Given the description of an element on the screen output the (x, y) to click on. 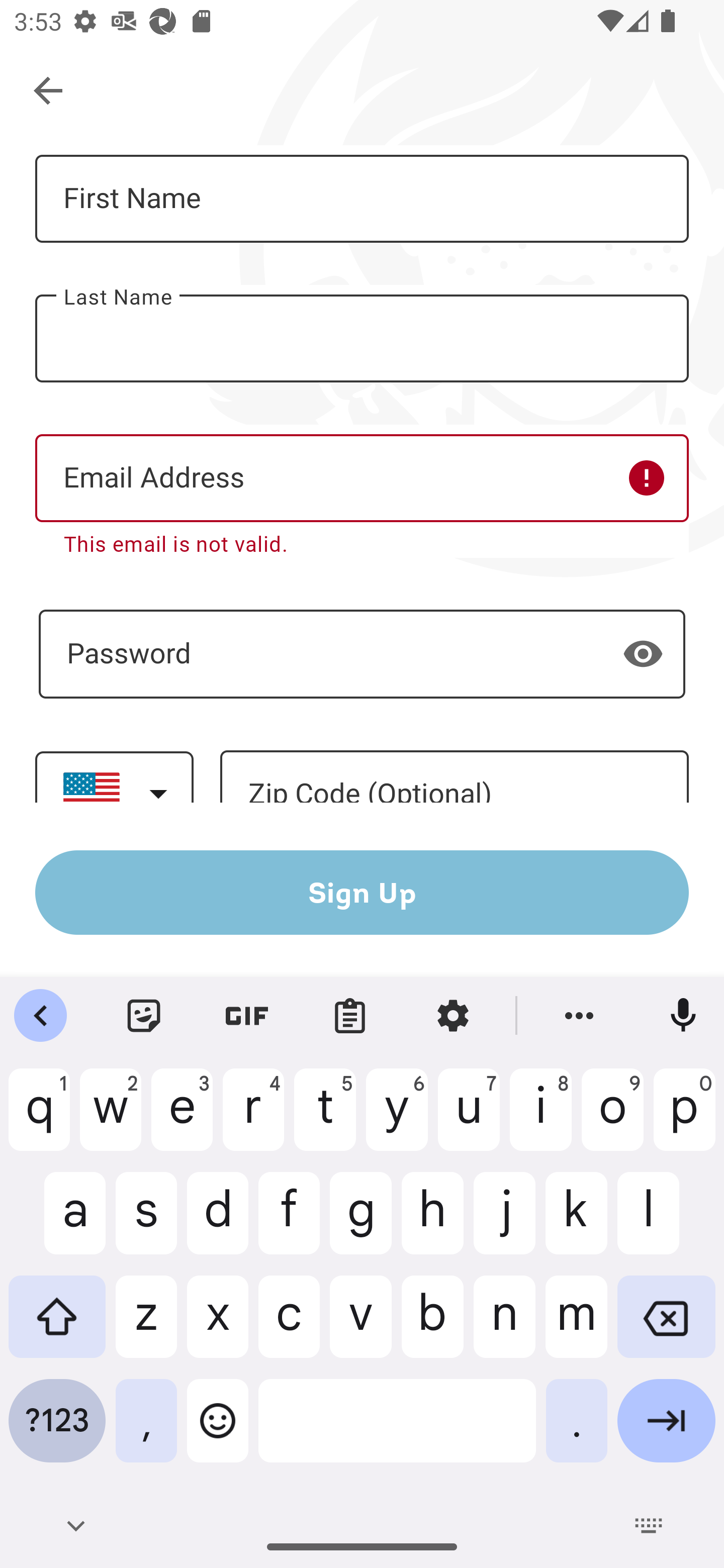
Navigate up (49, 91)
First Name - Required (361, 199)
Last Name - Required (361, 338)
Email Address - Required (361, 478)
- Required (361, 654)
Show password (642, 653)
Zip Code – Optional (454, 776)
Select a country. United States selected. (114, 776)
Sign Up (361, 891)
